Given the description of an element on the screen output the (x, y) to click on. 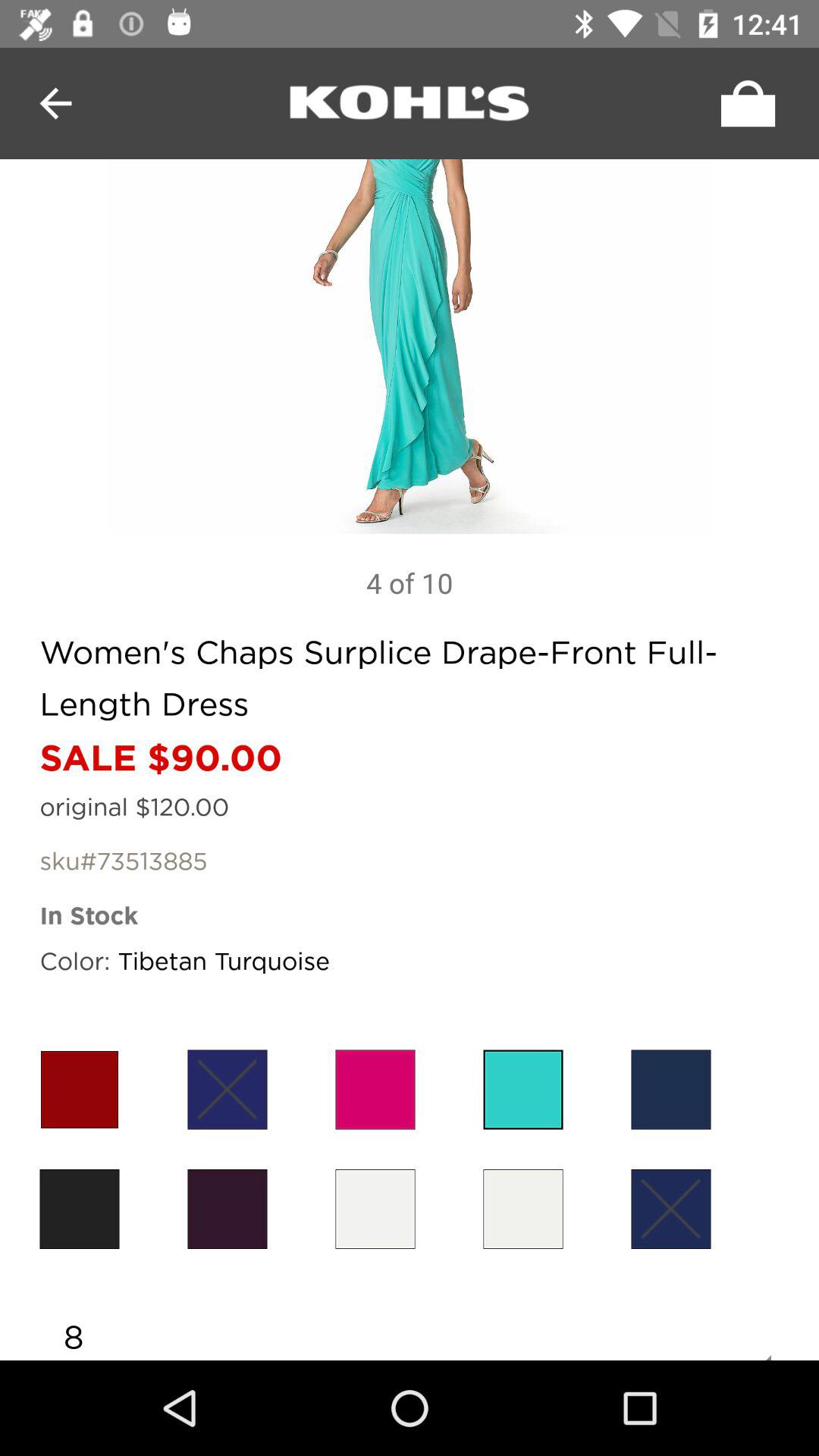
change the color to beige (523, 1208)
